Given the description of an element on the screen output the (x, y) to click on. 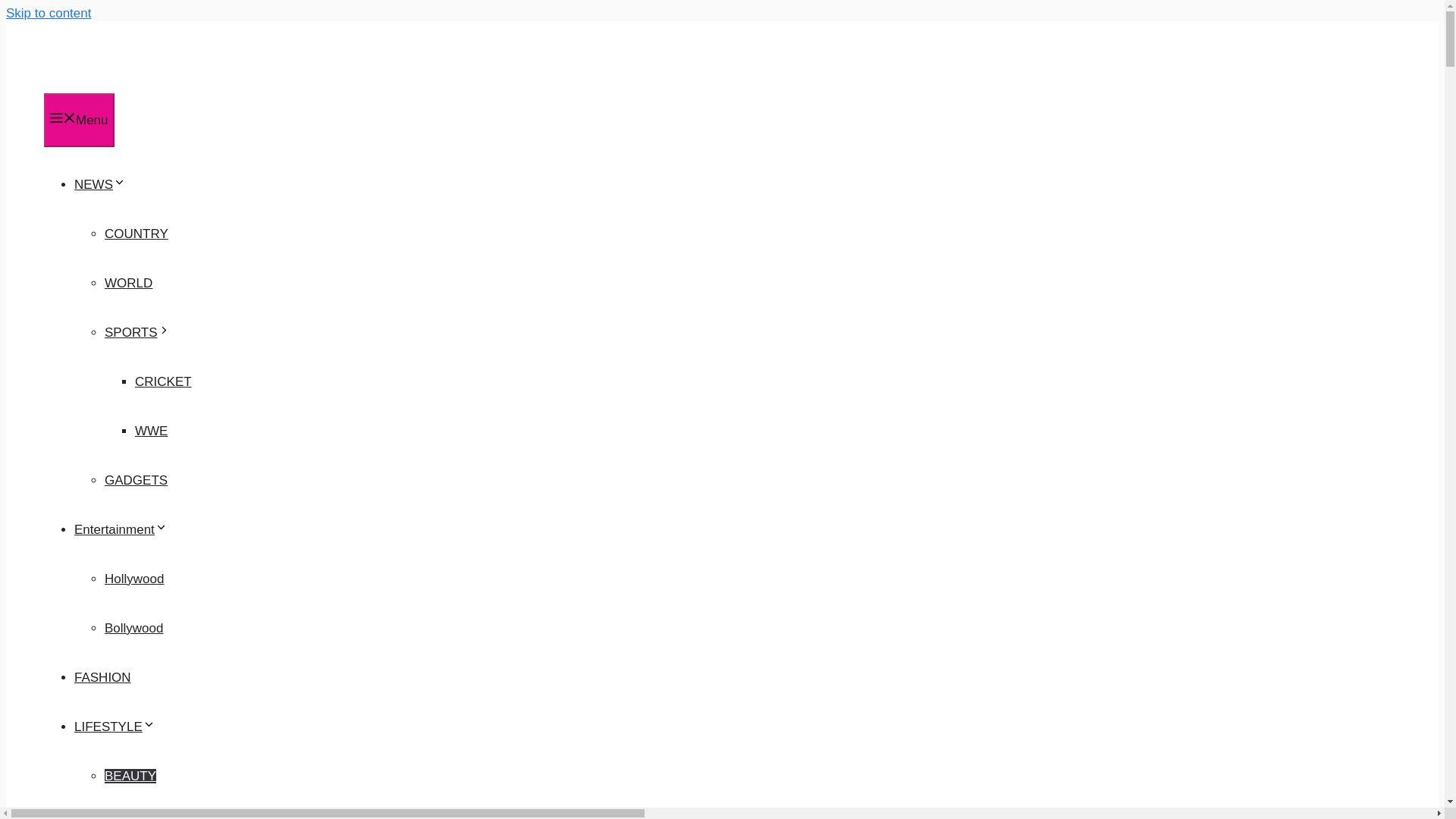
NEWS (99, 184)
LIFESTYLE (114, 726)
GADGETS (135, 480)
Bollywood (133, 627)
FASHION (102, 677)
COUNTRY (136, 233)
WWE (151, 431)
Skip to content (47, 12)
CRICKET (163, 381)
Skip to content (47, 12)
Menu (79, 120)
SPORTS (137, 332)
Hollywood (133, 578)
WORLD (128, 283)
